Given the description of an element on the screen output the (x, y) to click on. 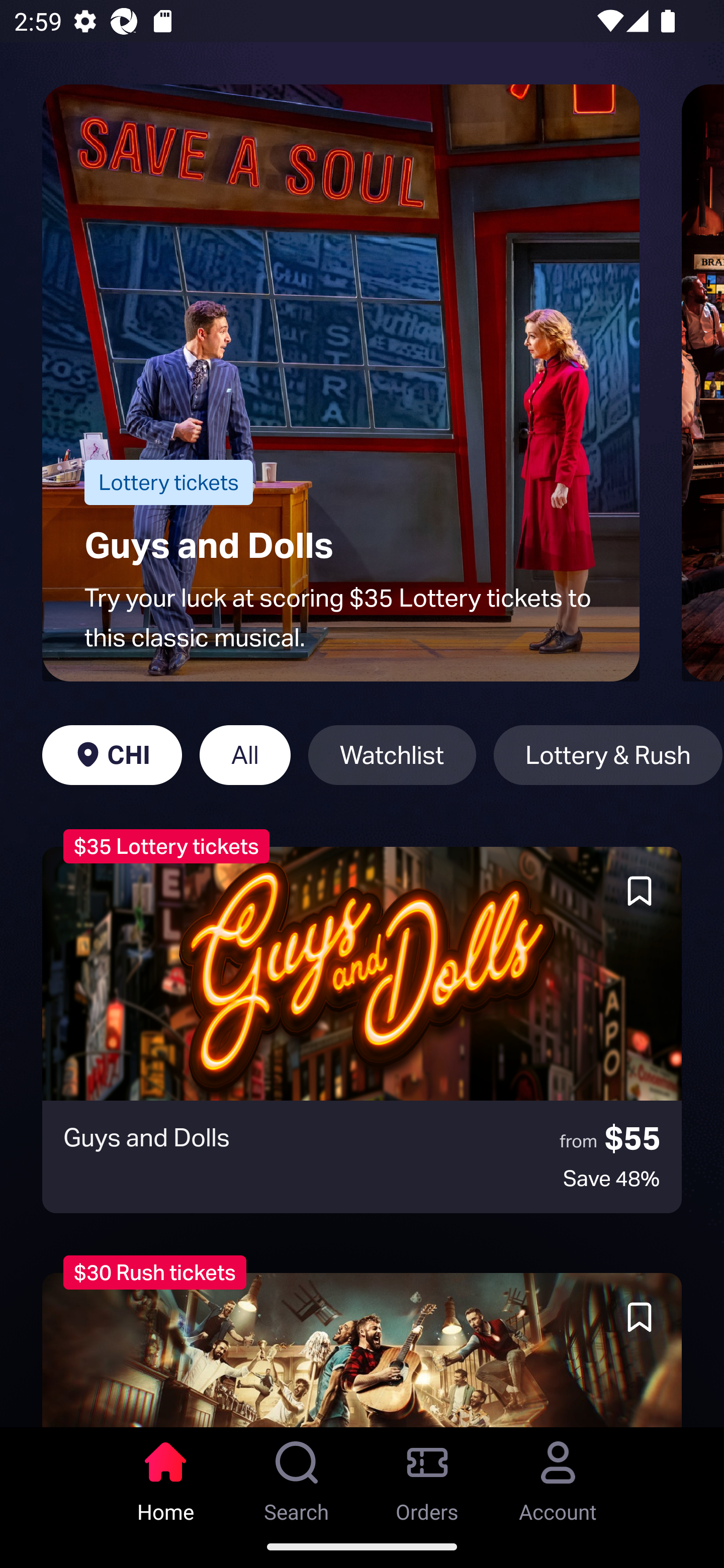
CHI (111, 754)
All (244, 754)
Watchlist (392, 754)
Lottery & Rush (607, 754)
Guys and Dolls from $55 Save 48% (361, 1029)
Search (296, 1475)
Orders (427, 1475)
Account (558, 1475)
